Given the description of an element on the screen output the (x, y) to click on. 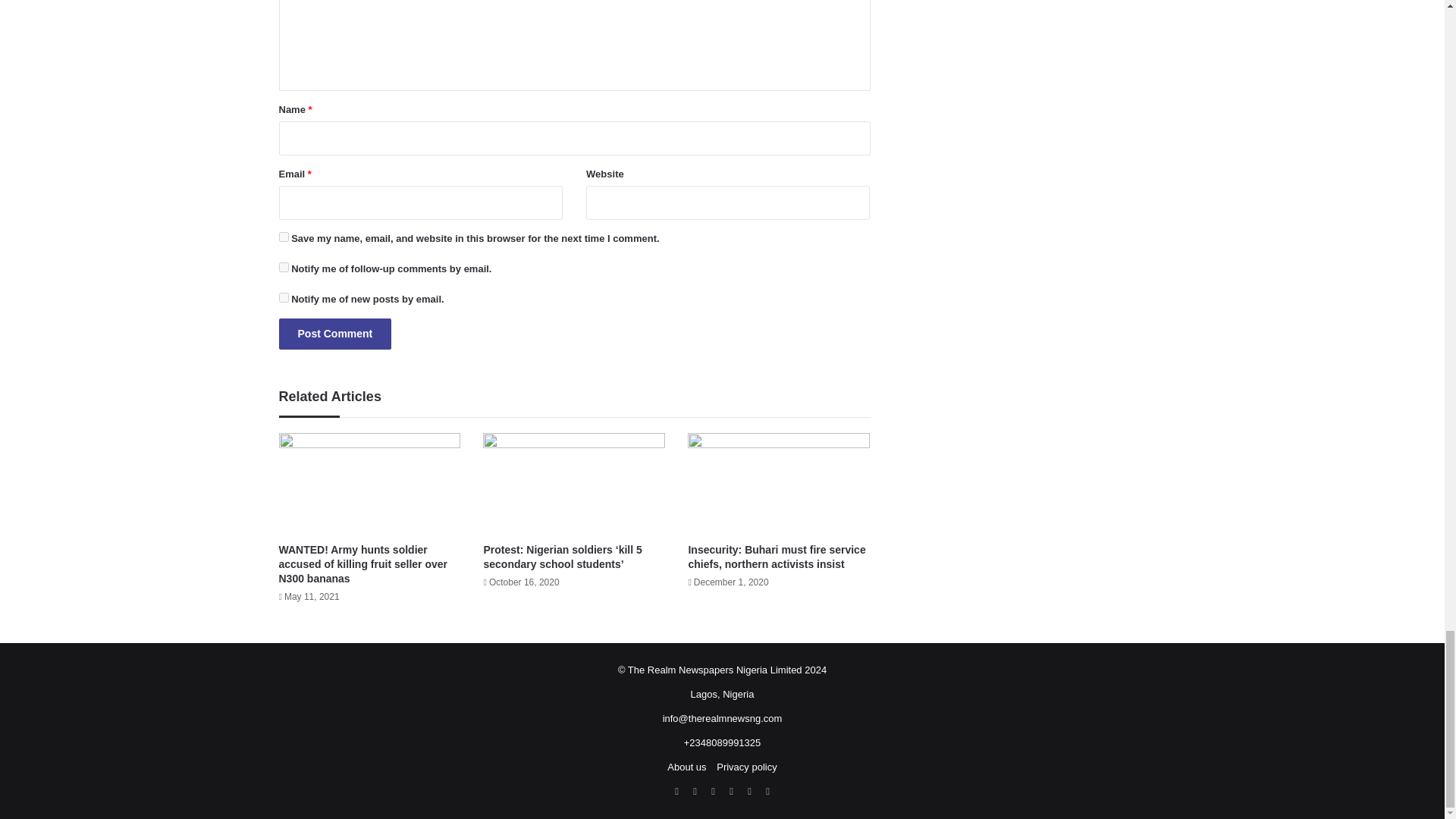
yes (283, 236)
Post Comment (335, 333)
subscribe (283, 266)
subscribe (283, 297)
